Given the description of an element on the screen output the (x, y) to click on. 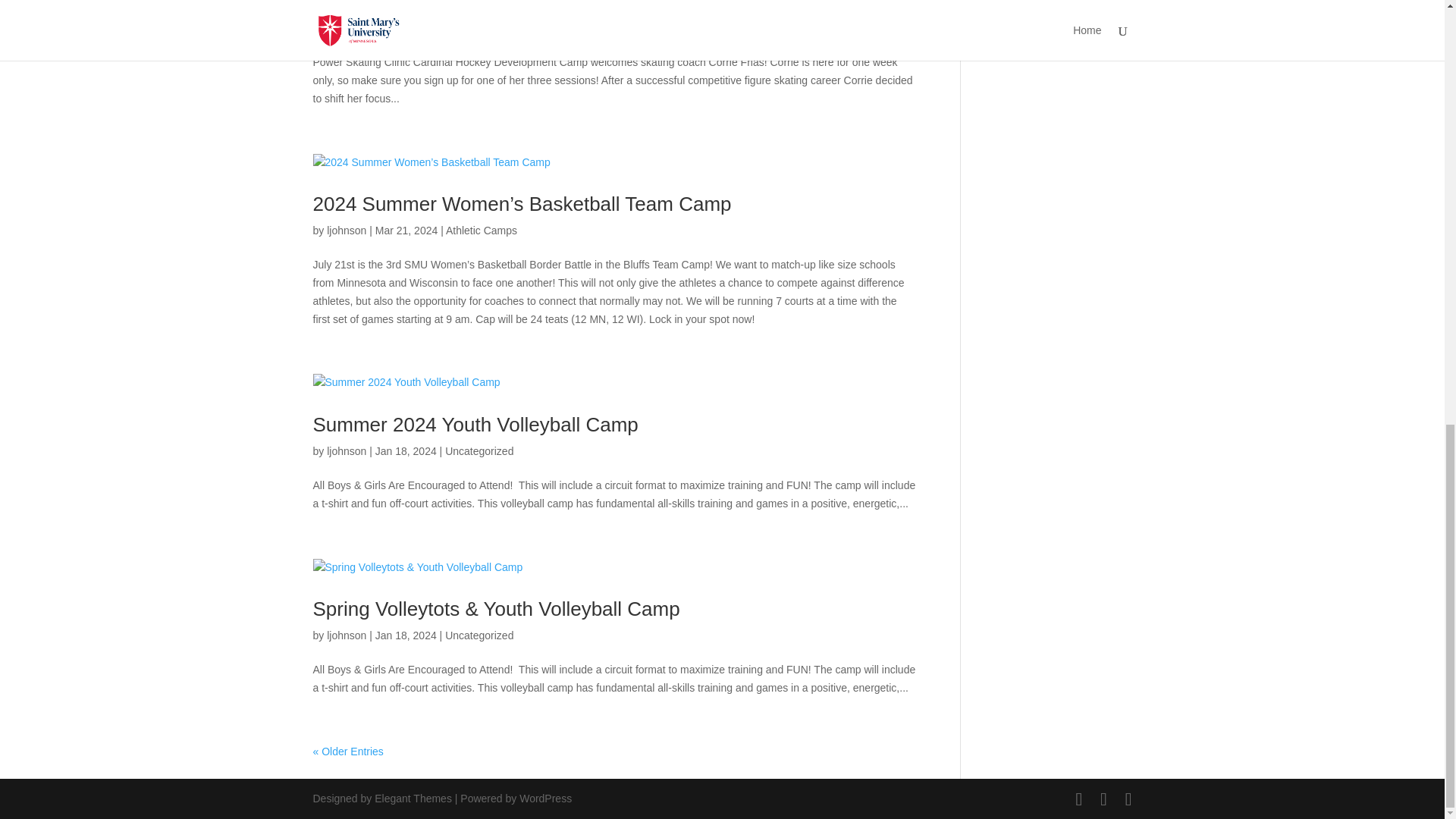
Posts by ljohnson (346, 230)
Posts by ljohnson (346, 451)
Posts by ljohnson (346, 635)
Power Skating Clinic (403, 6)
ljohnson (346, 451)
ljohnson (346, 28)
ljohnson (346, 230)
Uncategorized (479, 451)
Posts by ljohnson (346, 28)
Premium WordPress Themes (412, 798)
